Given the description of an element on the screen output the (x, y) to click on. 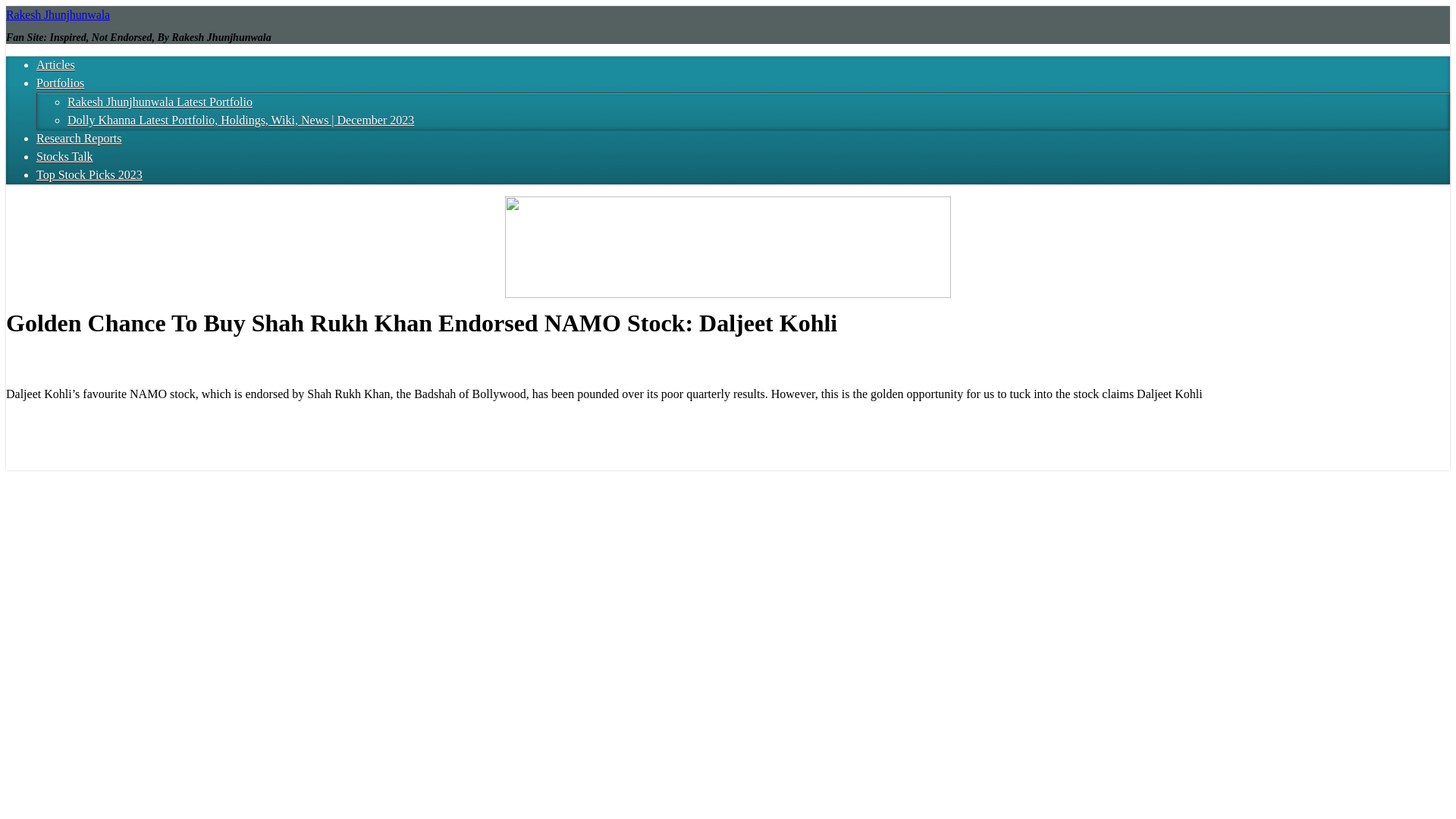
Top Stock Picks 2023 (89, 174)
Articles (55, 64)
Research Reports (78, 137)
Rakesh Jhunjhunwala Latest Portfolio (158, 101)
Stocks Talk (64, 155)
Portfolios (60, 82)
Rakesh Jhunjhunwala (57, 14)
